Given the description of an element on the screen output the (x, y) to click on. 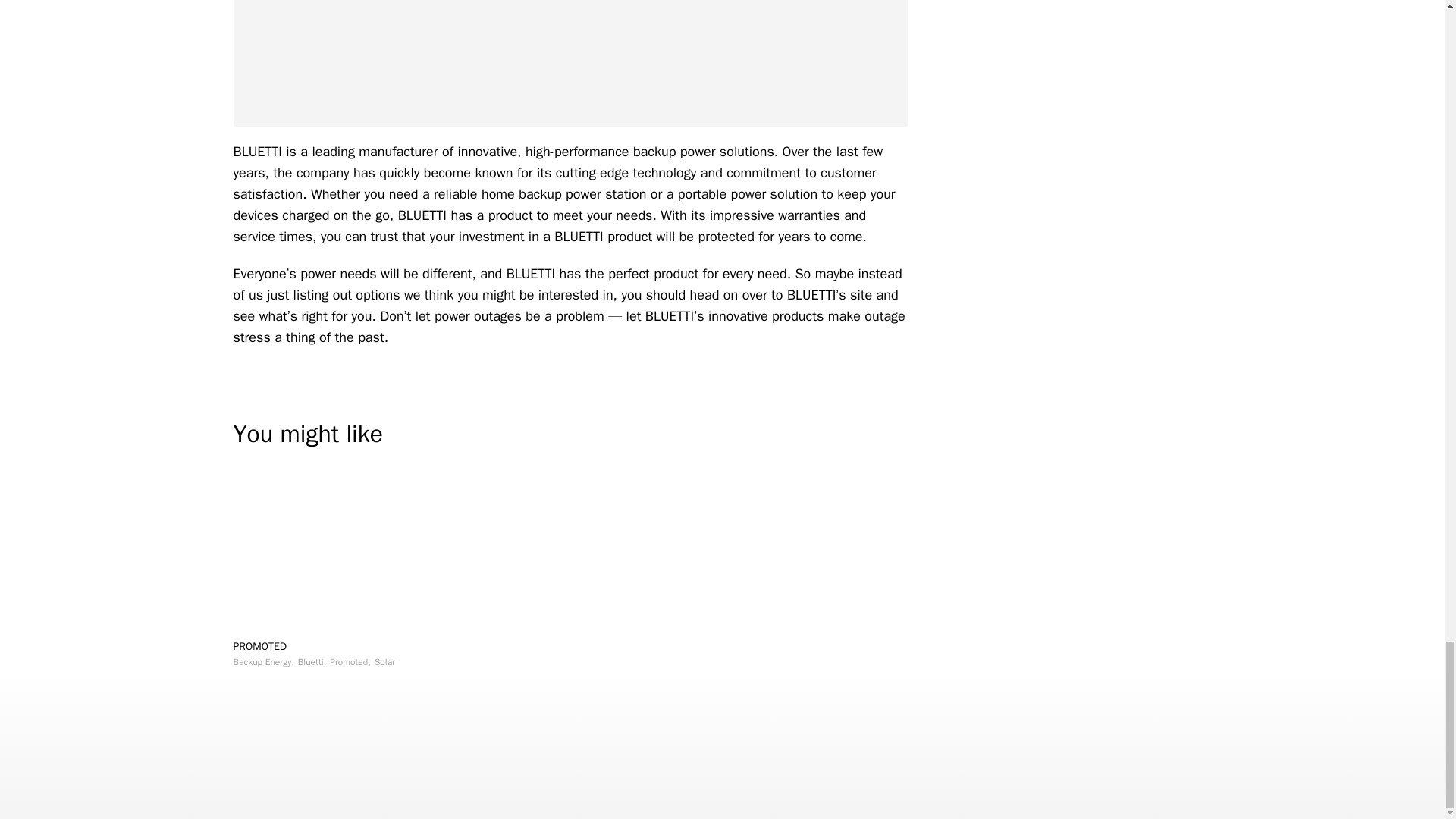
Backup Energy (263, 661)
Solar (384, 661)
PROMOTED (259, 645)
Bluetti 1 (570, 63)
Promoted (350, 661)
Bluetti (312, 661)
